Given the description of an element on the screen output the (x, y) to click on. 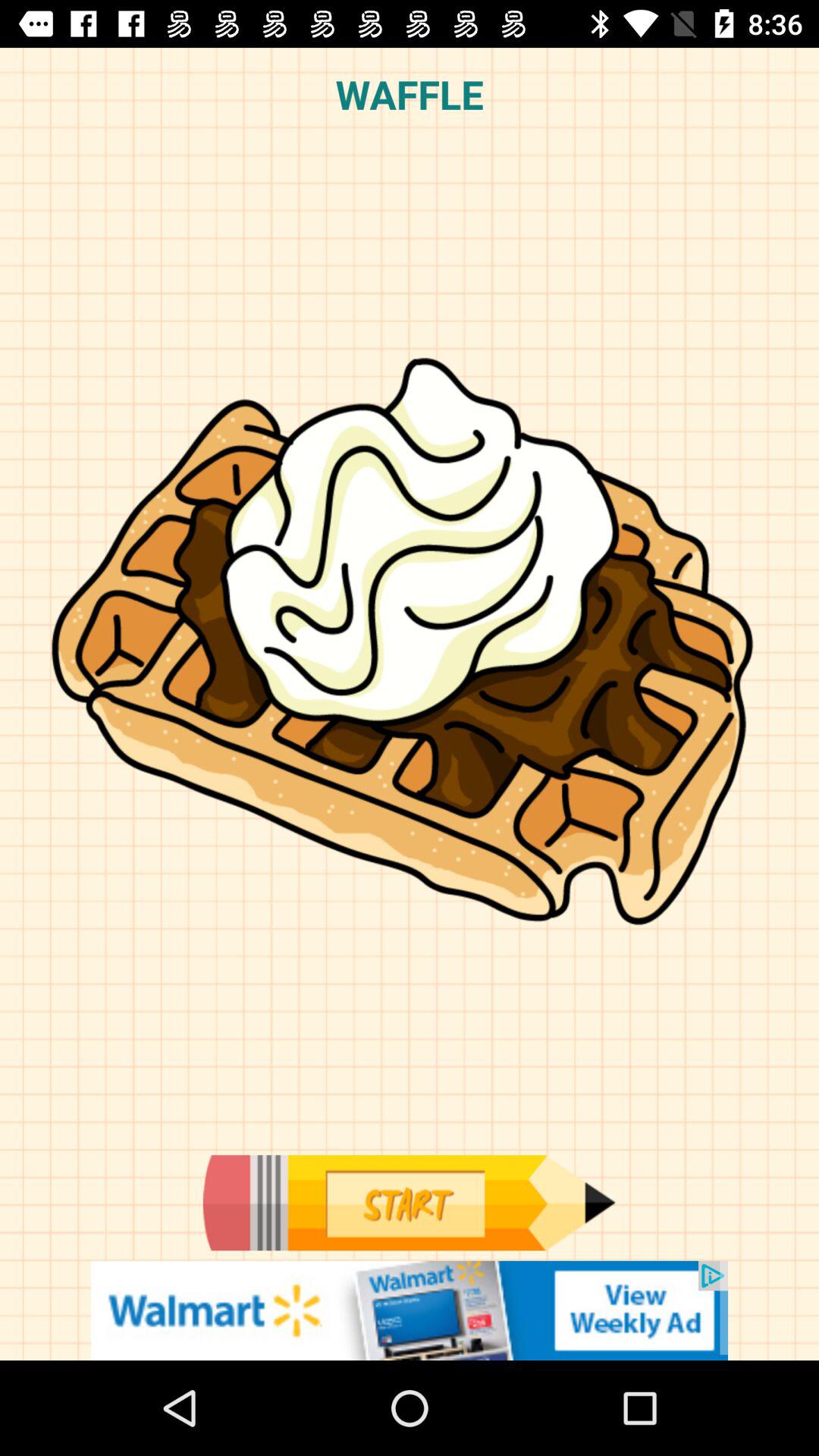
advertisement page (409, 1310)
